Given the description of an element on the screen output the (x, y) to click on. 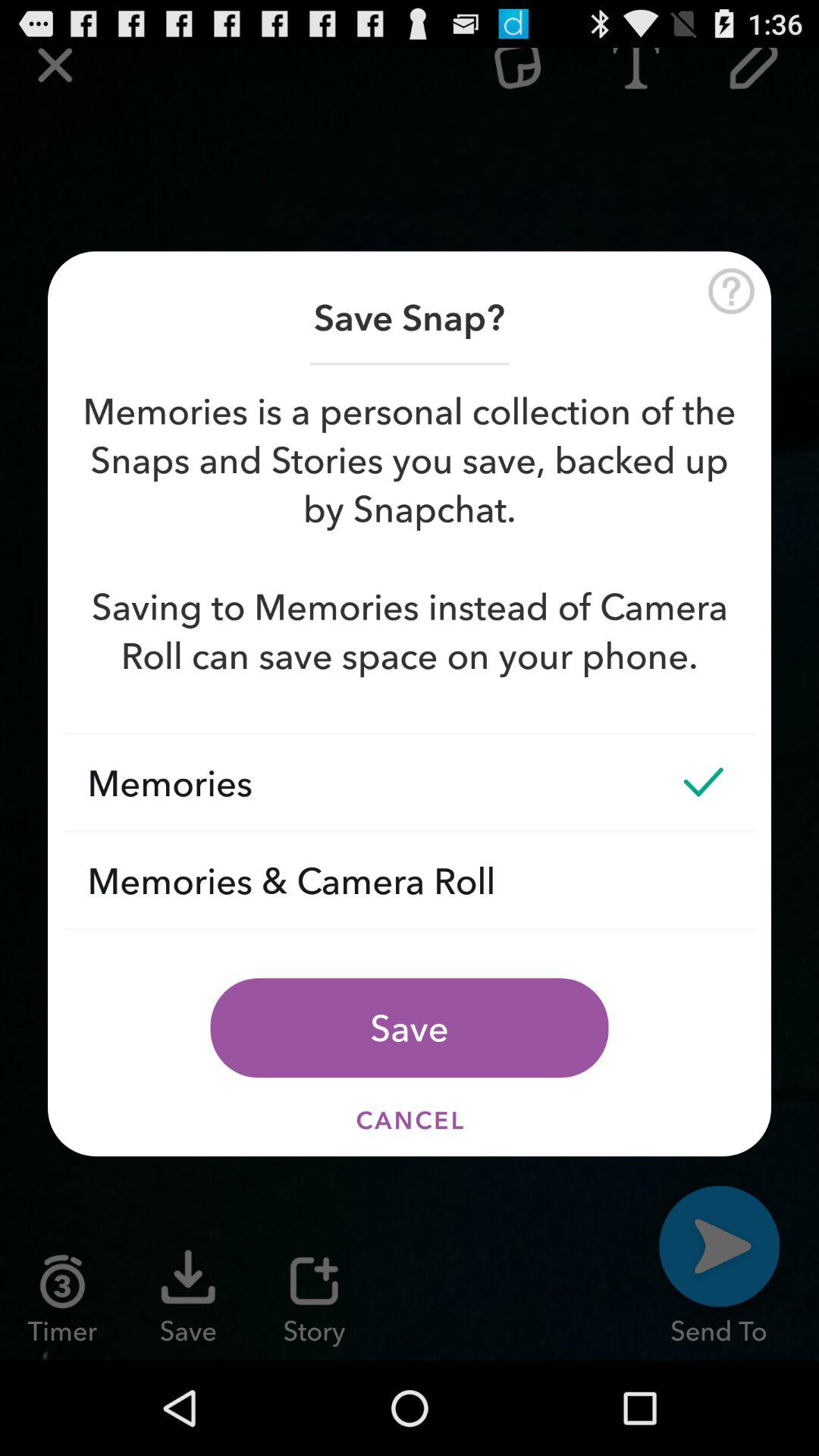
swipe to the cancel item (409, 1119)
